Given the description of an element on the screen output the (x, y) to click on. 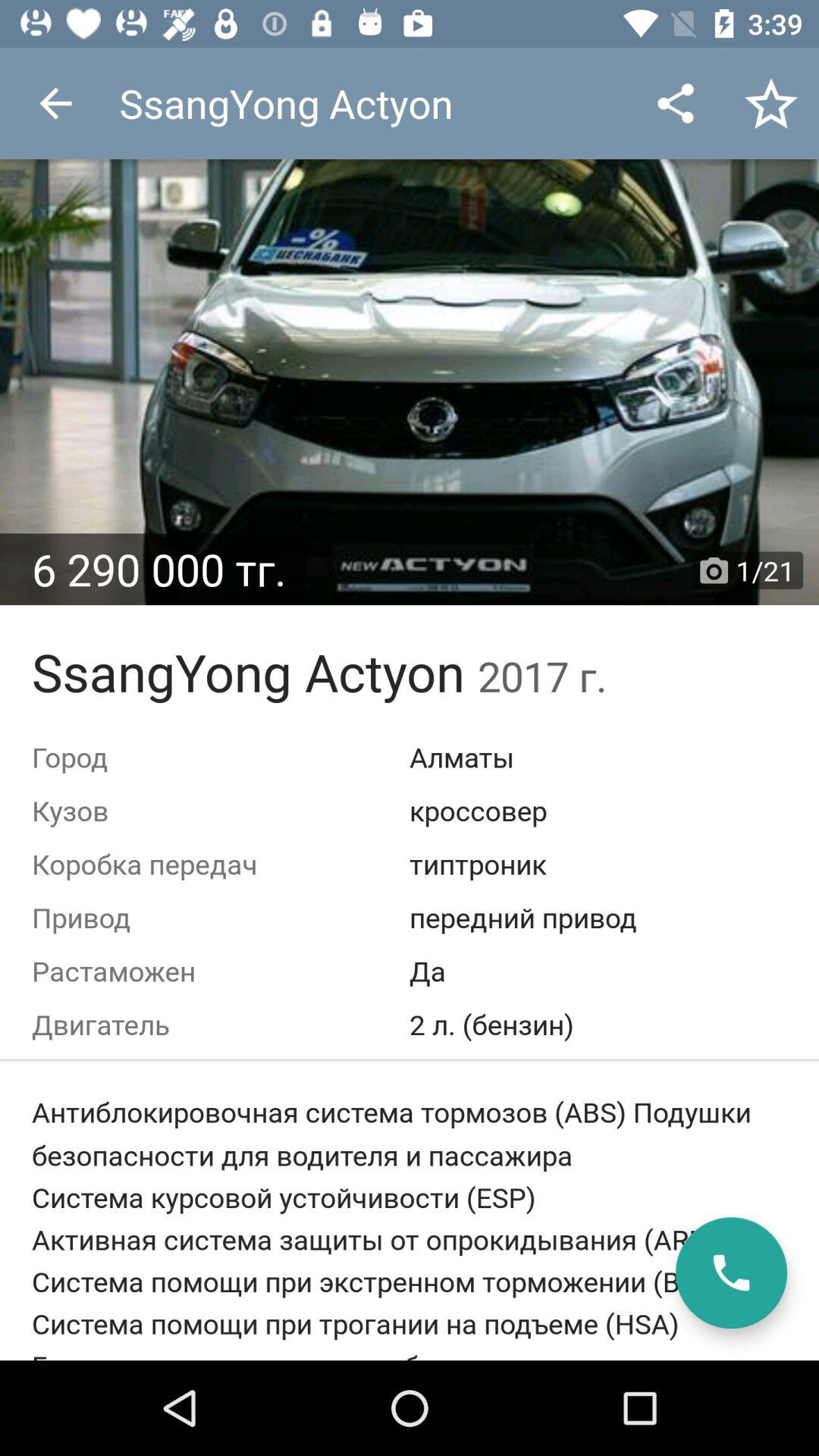
tap the item next to the ssangyong actyon (55, 103)
